Given the description of an element on the screen output the (x, y) to click on. 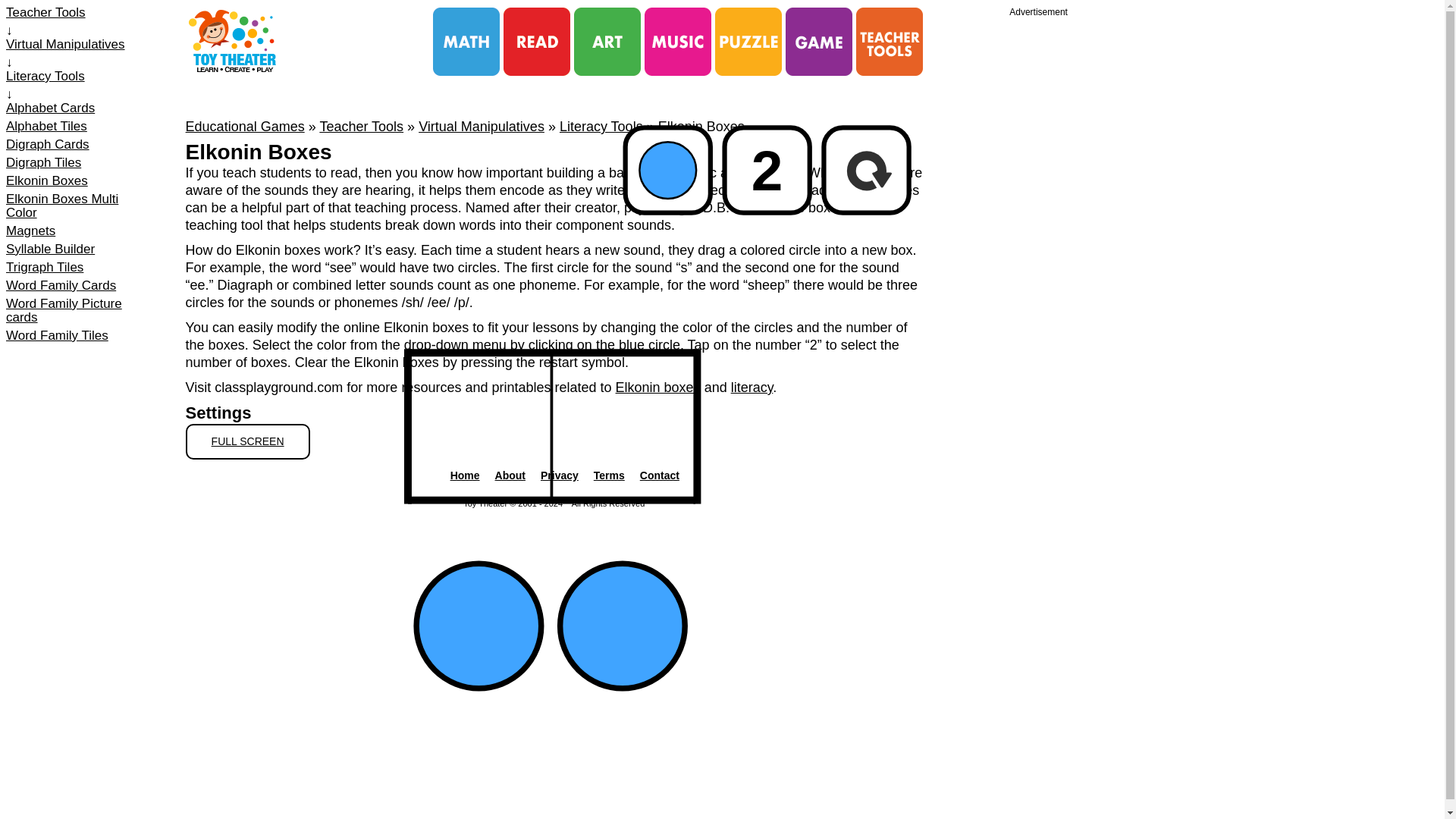
Digraph Tiles (78, 162)
Home (464, 475)
Elkonin Boxes (78, 181)
Privacy (559, 475)
Syllable Builder (78, 249)
Elkonin Boxes Multi Color (78, 206)
Teacher Tools (360, 126)
Syllable Builder (78, 249)
Magnets (78, 231)
Terms (609, 475)
Digraph Cards (78, 144)
Word Family Picture cards (78, 310)
Contact (659, 475)
Elkonin Boxes Multi Color (78, 206)
Literacy Tools (601, 126)
